Given the description of an element on the screen output the (x, y) to click on. 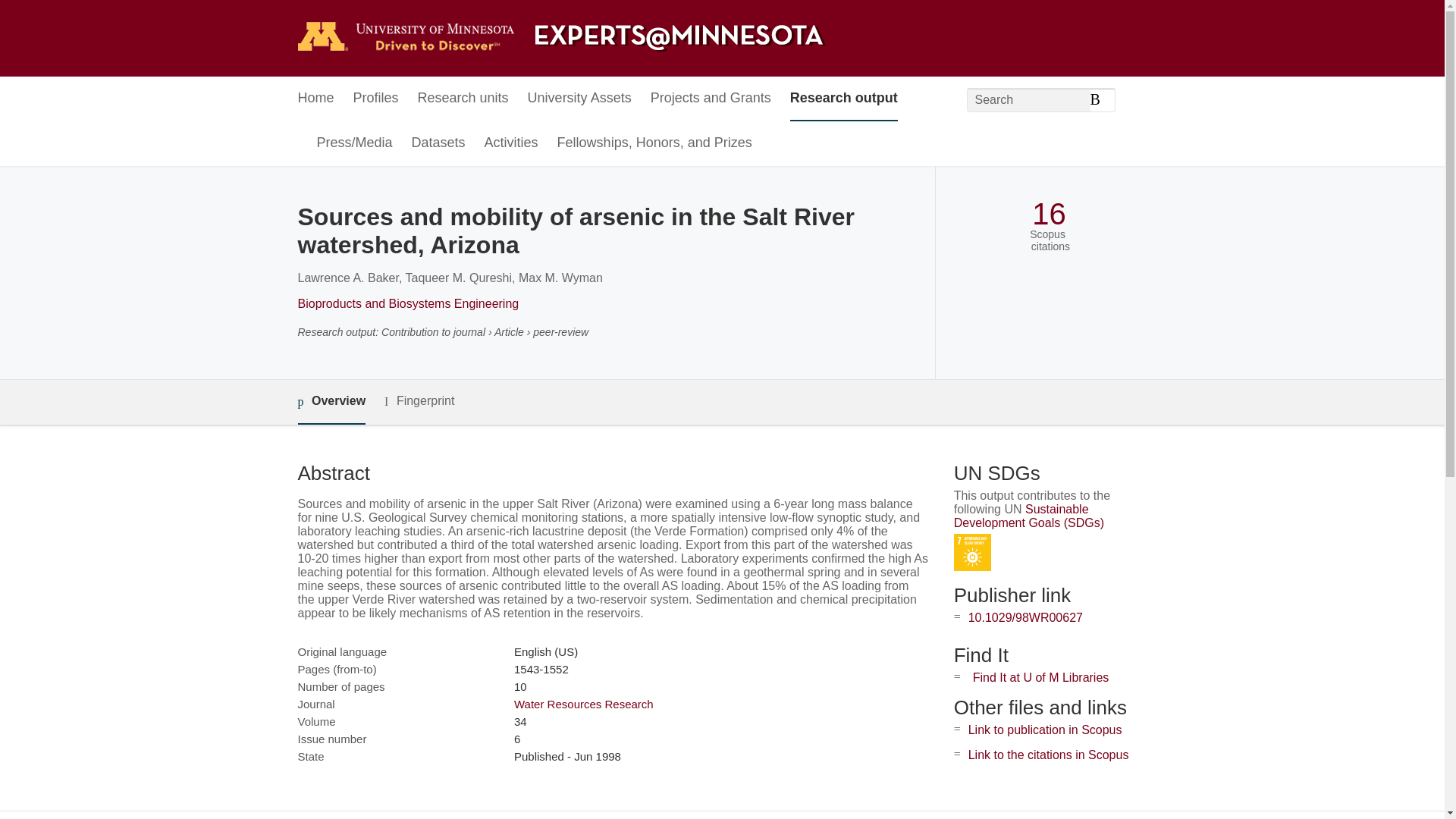
Water Resources Research (583, 703)
16 (1048, 213)
Activities (511, 143)
Find It at U of M Libraries (1040, 676)
Research output (844, 98)
Datasets (438, 143)
Link to publication in Scopus (1045, 729)
Fingerprint (419, 401)
Fellowships, Honors, and Prizes (654, 143)
Projects and Grants (710, 98)
University Assets (579, 98)
Overview (331, 402)
Bioproducts and Biosystems Engineering (407, 303)
Profiles (375, 98)
